Given the description of an element on the screen output the (x, y) to click on. 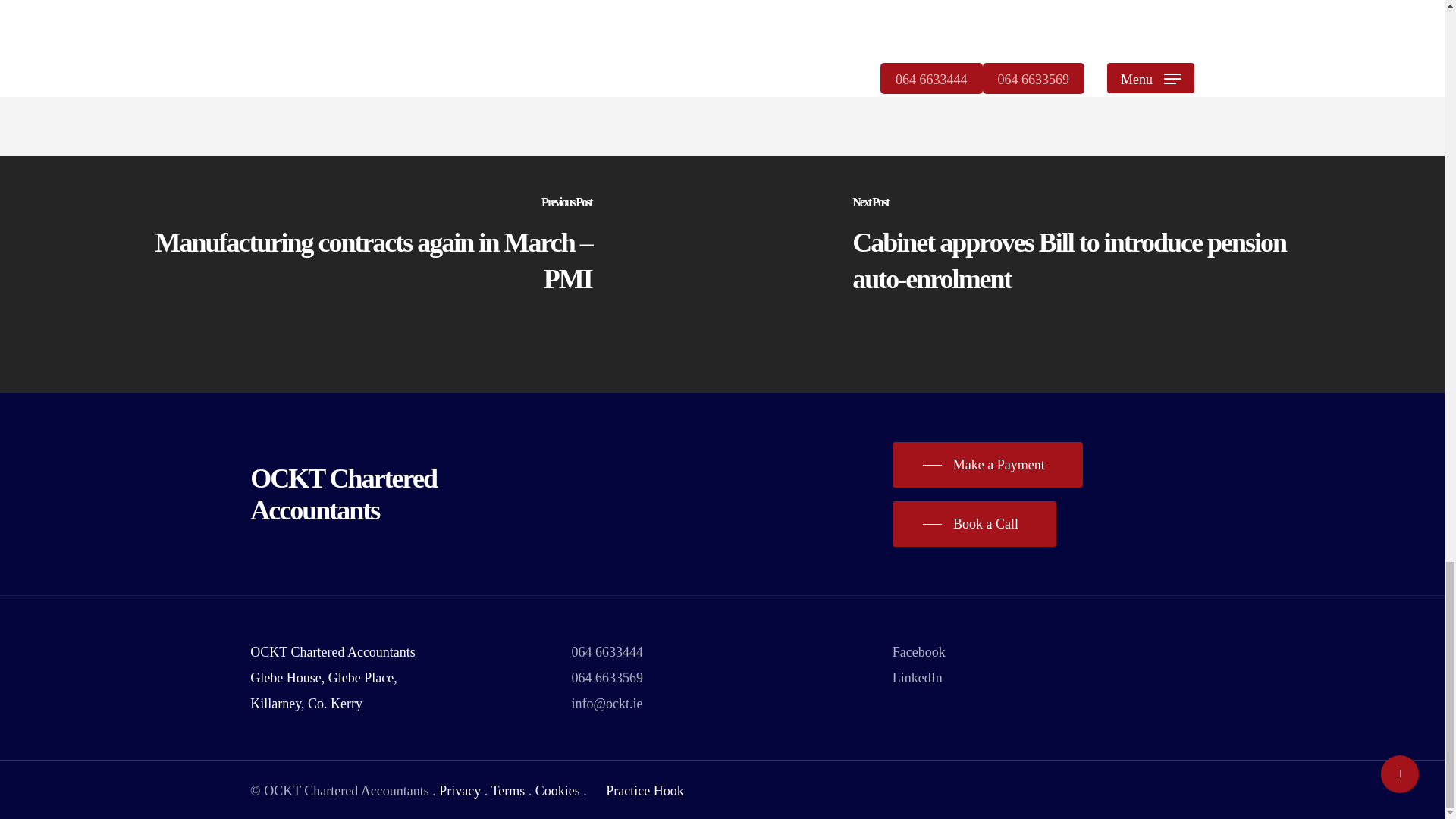
Make a Payment (987, 464)
Privacy (459, 790)
064 6633444 (607, 652)
LinkedIn (917, 677)
Facebook (918, 652)
Book a Call (974, 524)
Terms (507, 790)
064 6633569 (607, 677)
Cookies (557, 790)
Practice Hook (635, 790)
